Given the description of an element on the screen output the (x, y) to click on. 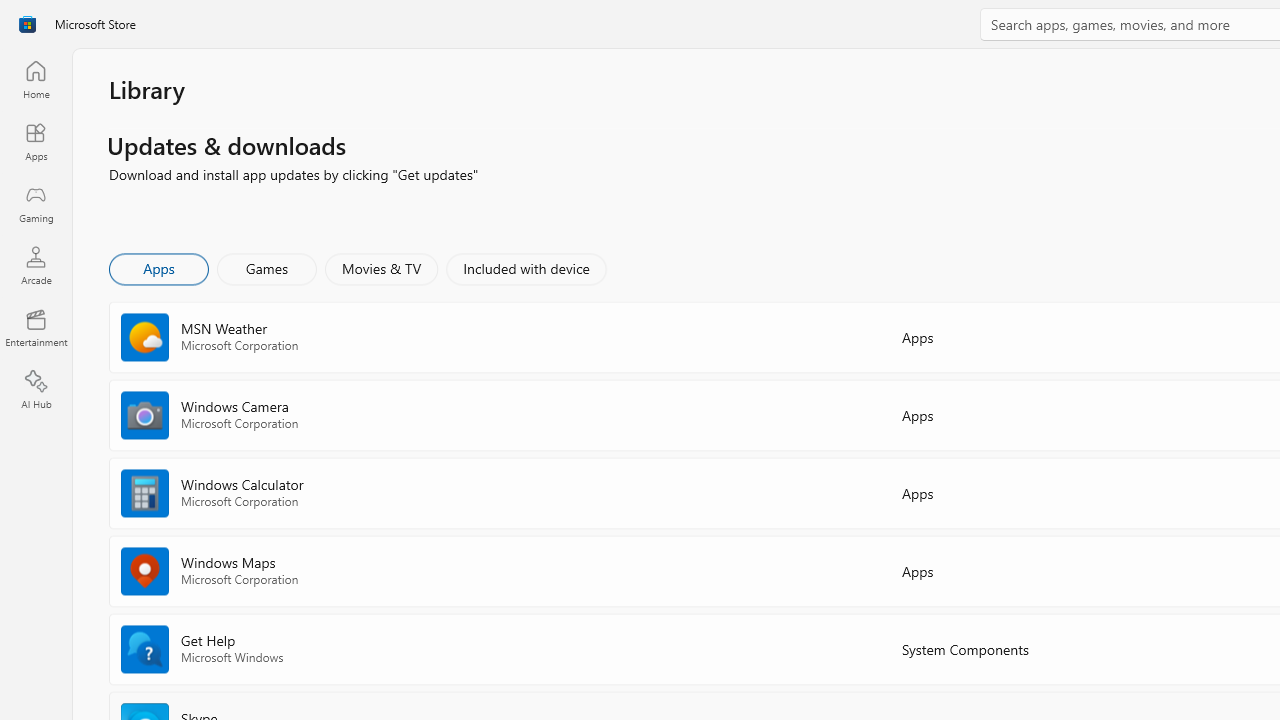
Home (35, 79)
Included with device (525, 268)
Movies & TV (381, 268)
Apps (35, 141)
Class: Image (27, 24)
Arcade (35, 265)
Games (267, 268)
Entertainment (35, 327)
AI Hub (35, 390)
Apps (158, 268)
Gaming (35, 203)
